Given the description of an element on the screen output the (x, y) to click on. 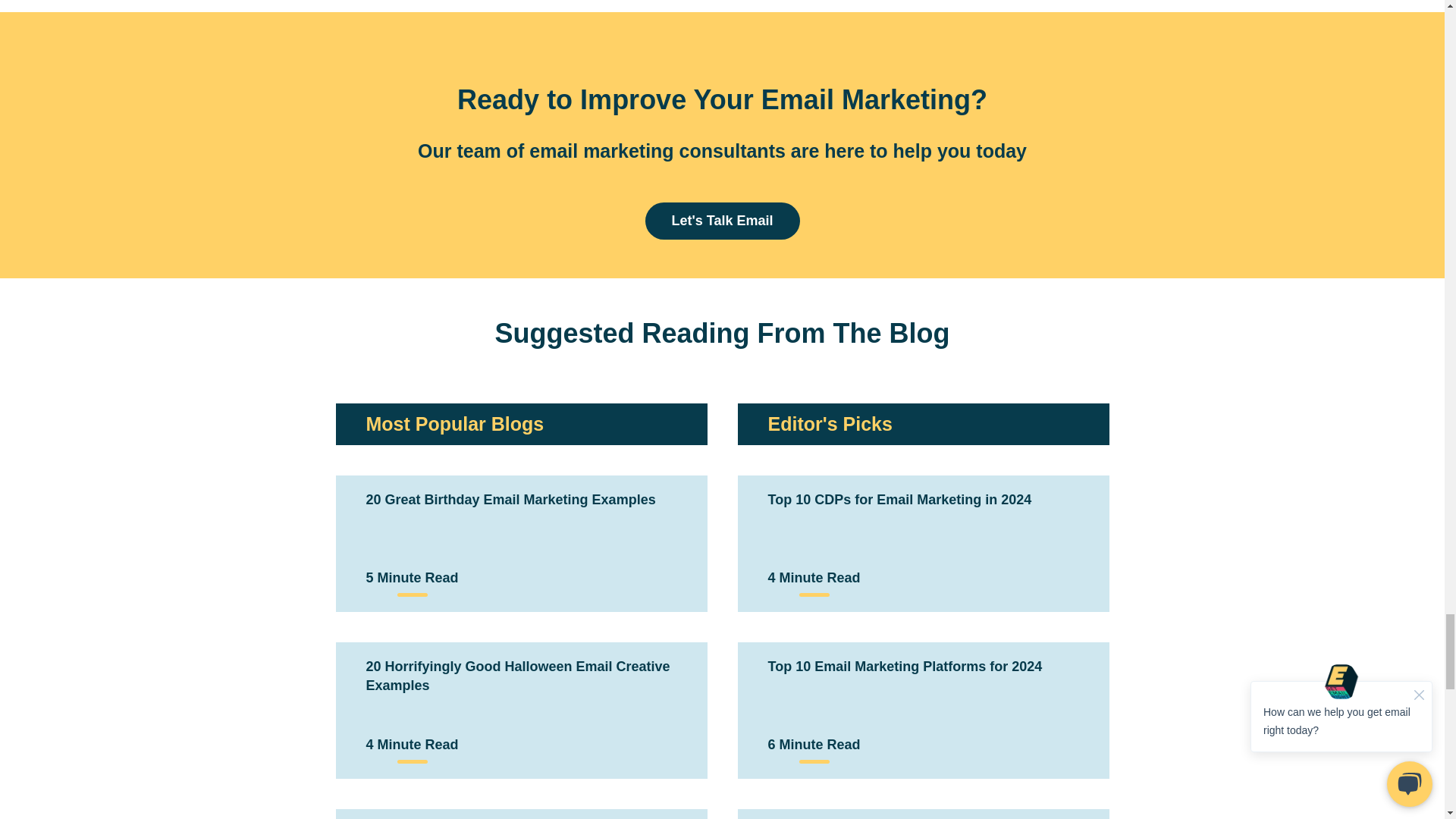
20 Horrifyingly Good Halloween Email Creative Examples (517, 675)
20 Great Birthday Email Marketing Examples (510, 499)
Let's Talk Email (722, 220)
Let's Talk Email (722, 220)
Top 10 Email Marketing Platforms for 2024 (904, 666)
Top 10 CDPs for Email Marketing in 2024 (898, 499)
